Given the description of an element on the screen output the (x, y) to click on. 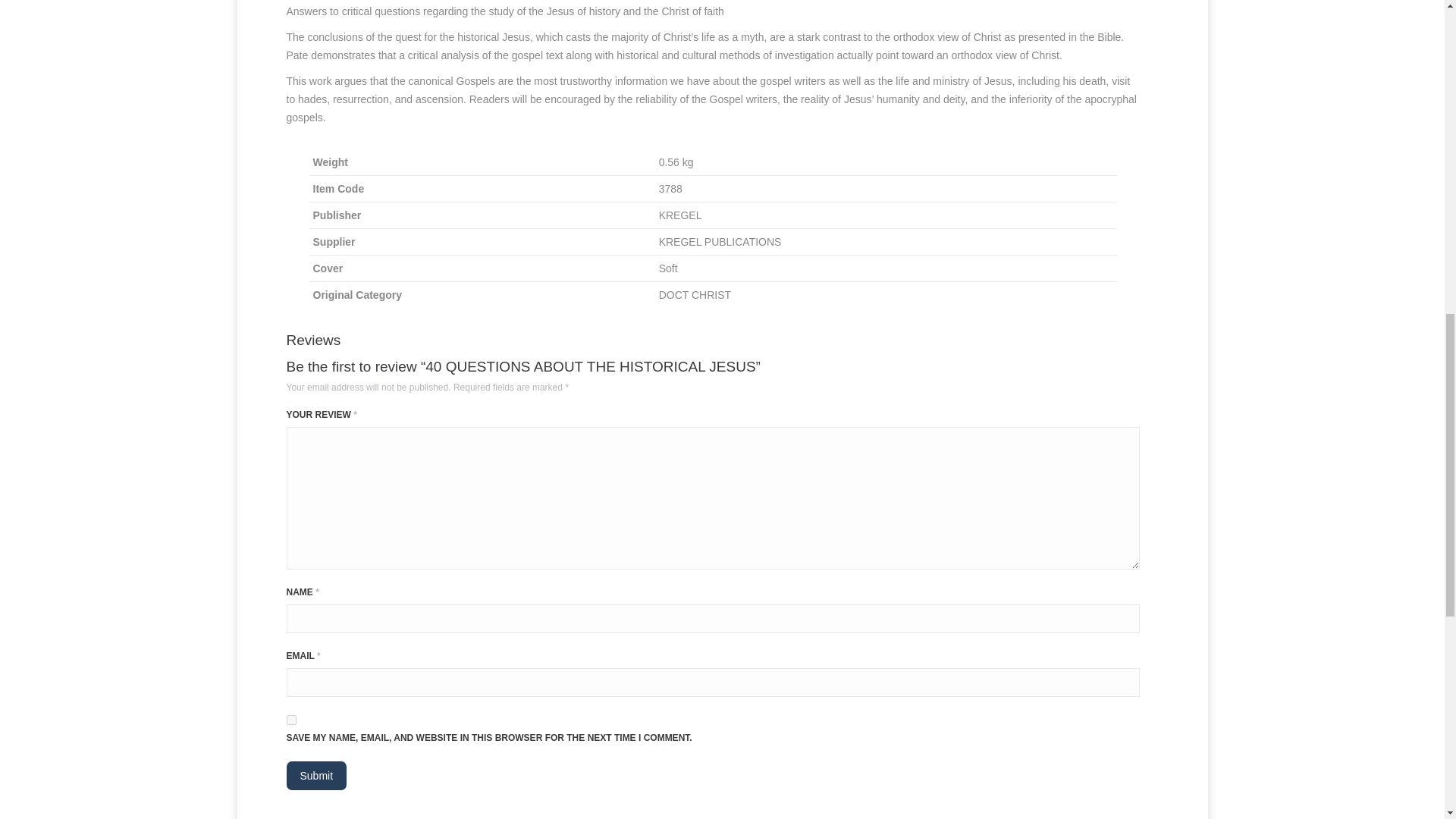
yes (291, 719)
Submit (316, 775)
